Given the description of an element on the screen output the (x, y) to click on. 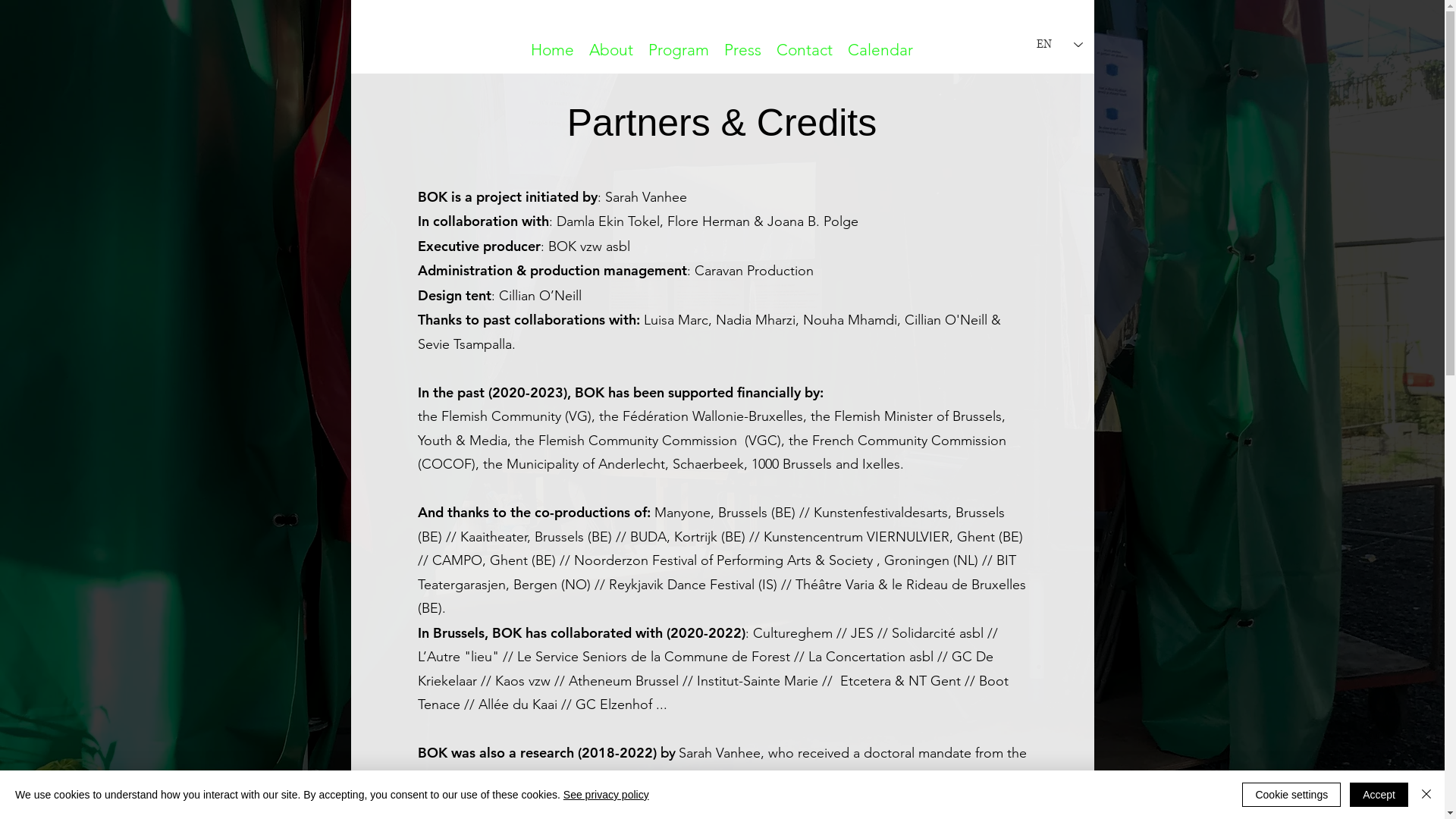
See privacy policy Element type: text (606, 794)
Press Element type: text (742, 49)
Home Element type: text (552, 49)
Program Element type: text (678, 49)
Contact Element type: text (804, 49)
Cookie settings Element type: text (1291, 794)
Calendar Element type: text (880, 49)
Accept Element type: text (1378, 794)
About Element type: text (610, 49)
